Given the description of an element on the screen output the (x, y) to click on. 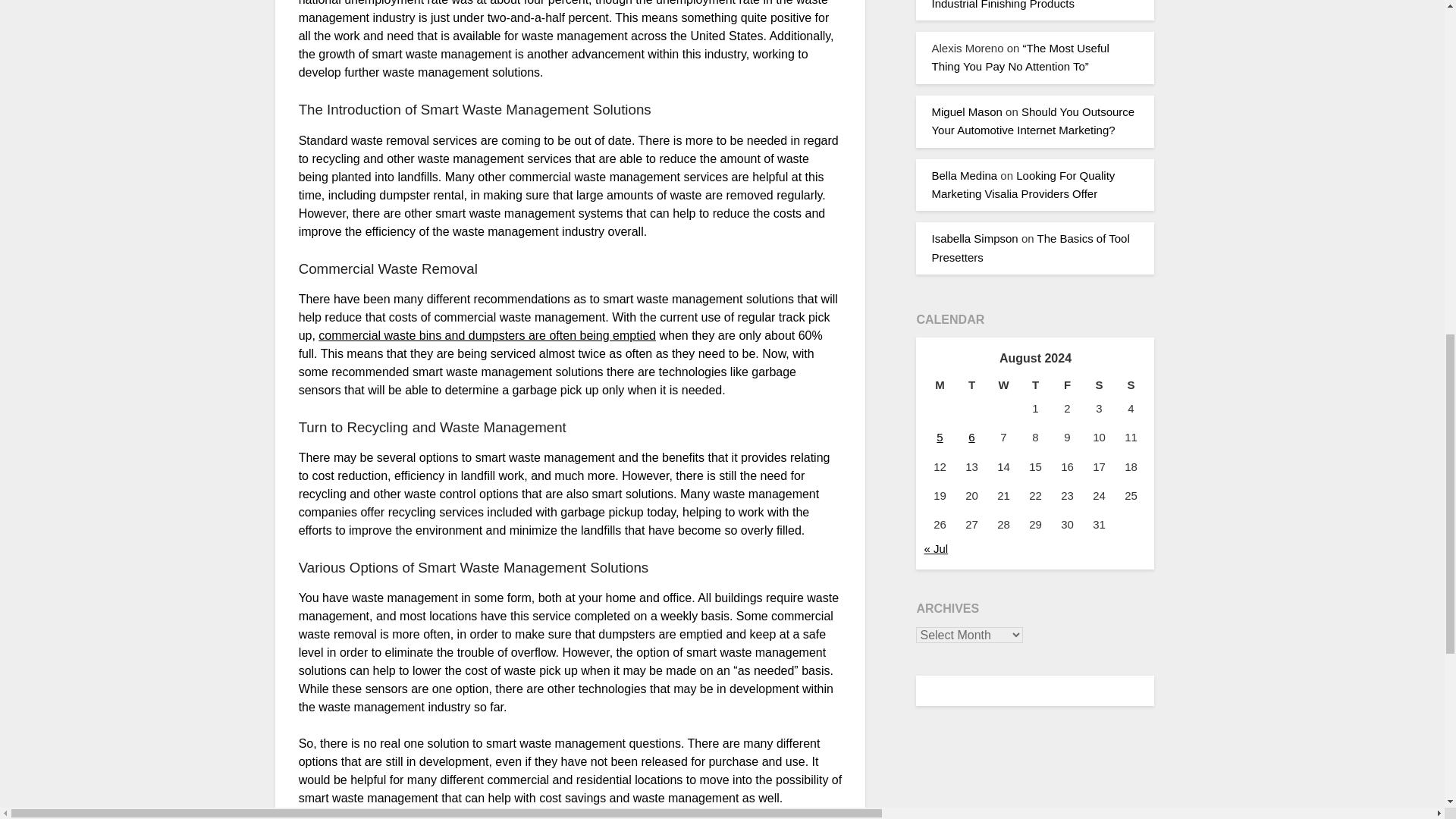
commercial waste bins and dumpsters are often being emptied (487, 335)
Looking For Quality Marketing Visalia Providers Offer (1023, 183)
Bella Medina (964, 174)
The Basics of Tool Presetters (1030, 246)
Wednesday (1003, 384)
Friday (1067, 384)
Monday (939, 384)
Commercial waste bins (487, 335)
Tuesday (971, 384)
Durable and Reliable Industrial Finishing Products (1023, 4)
